Given the description of an element on the screen output the (x, y) to click on. 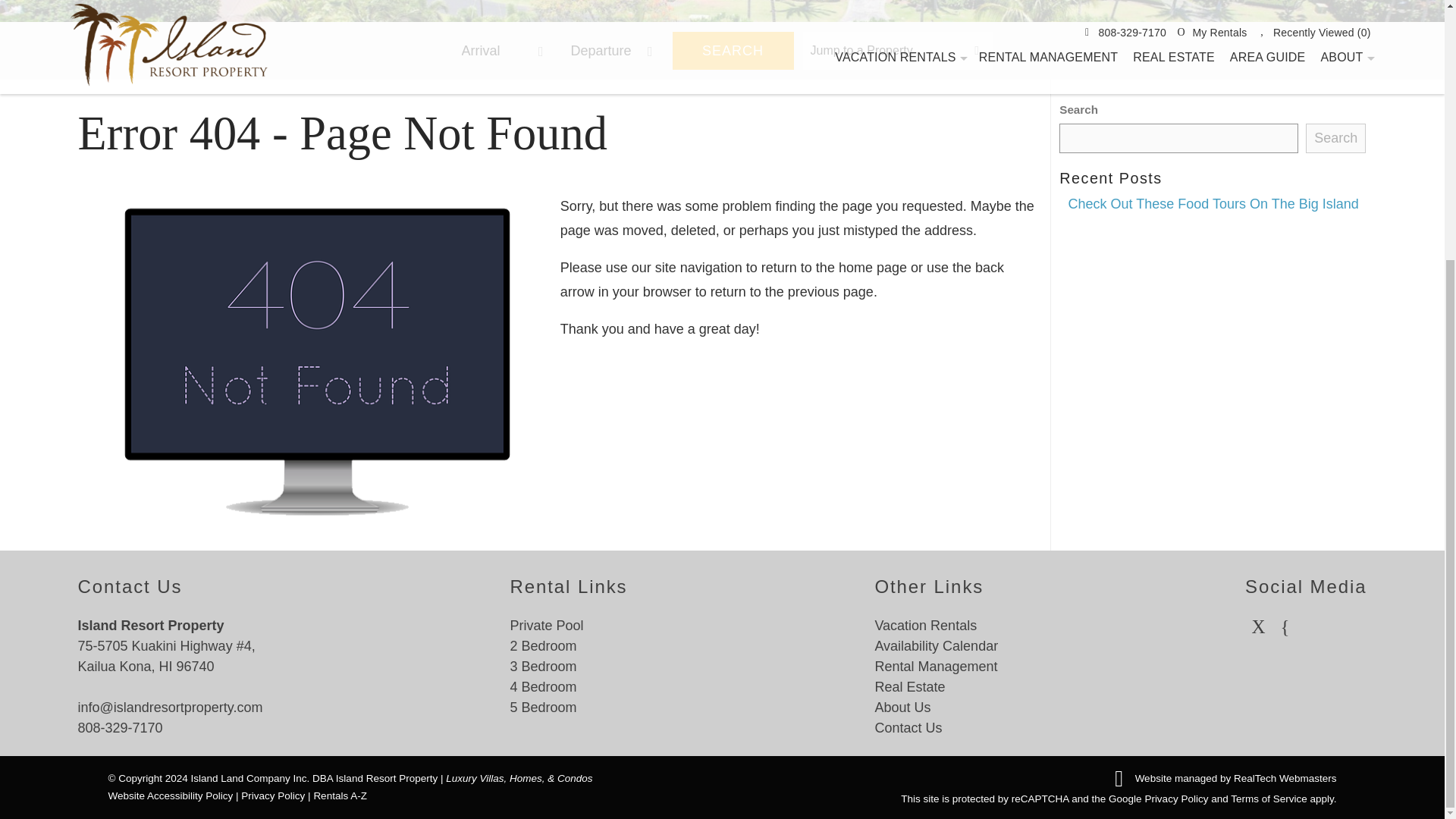
5 Bedroom (542, 707)
Follow us on Instagram (1284, 625)
Link for RealTech Webmasters (1219, 777)
Search (1335, 138)
Follow us on Facebook (1257, 625)
2 Bedroom (542, 645)
4 Bedroom (542, 686)
Private Pool (546, 625)
3 Bedroom (542, 666)
808-329-7170 (119, 727)
